Given the description of an element on the screen output the (x, y) to click on. 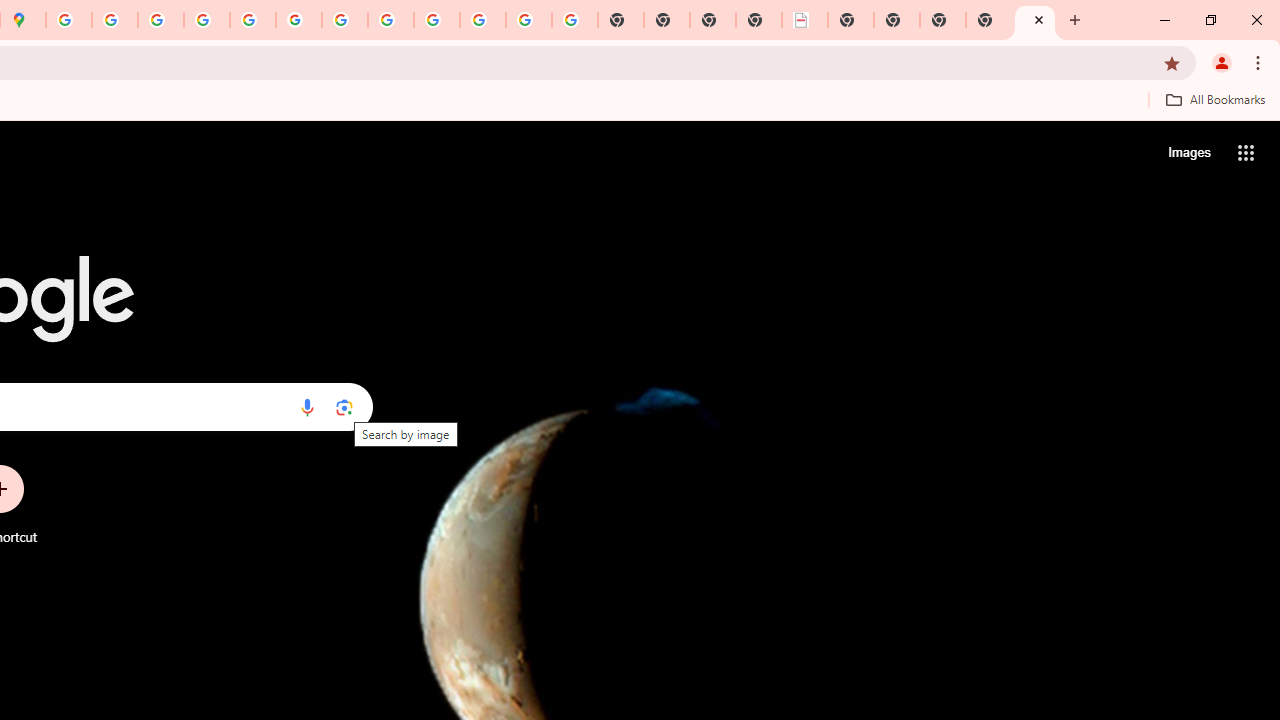
LAAD Defence & Security 2025 | BAE Systems (805, 20)
Sign in - Google Accounts (69, 20)
Privacy Help Center - Policies Help (161, 20)
Search by voice (307, 407)
New Tab (989, 20)
